Given the description of an element on the screen output the (x, y) to click on. 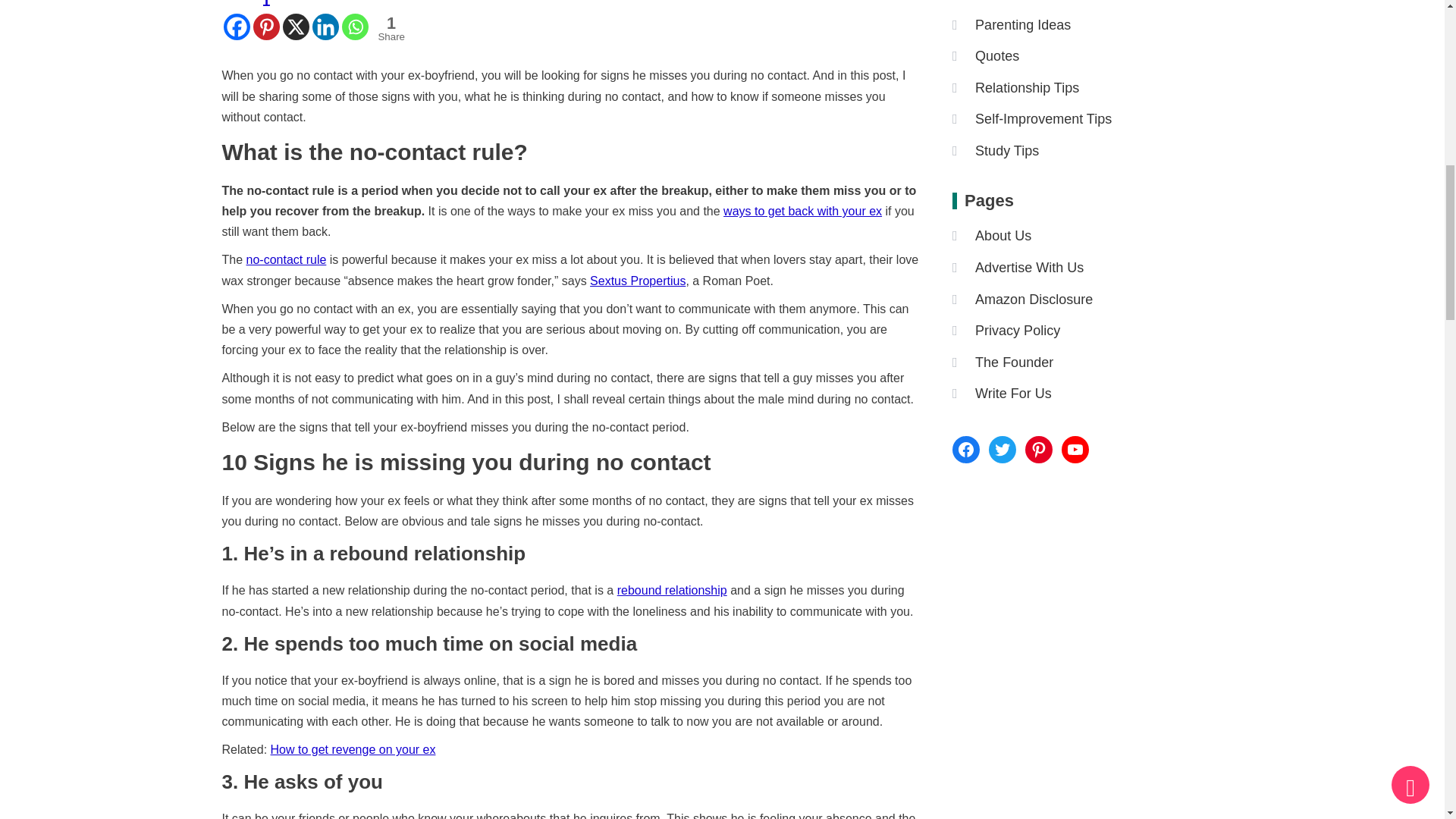
X (295, 20)
Total Shares (390, 28)
1 (266, 20)
Pinterest (266, 20)
rebound relationship (671, 590)
Whatsapp (354, 20)
How to get revenge on your ex (352, 748)
Facebook (388, 22)
Sextus Propertius (235, 20)
Linkedin (637, 280)
ways to get back with your ex (326, 20)
no-contact rule (802, 210)
